Given the description of an element on the screen output the (x, y) to click on. 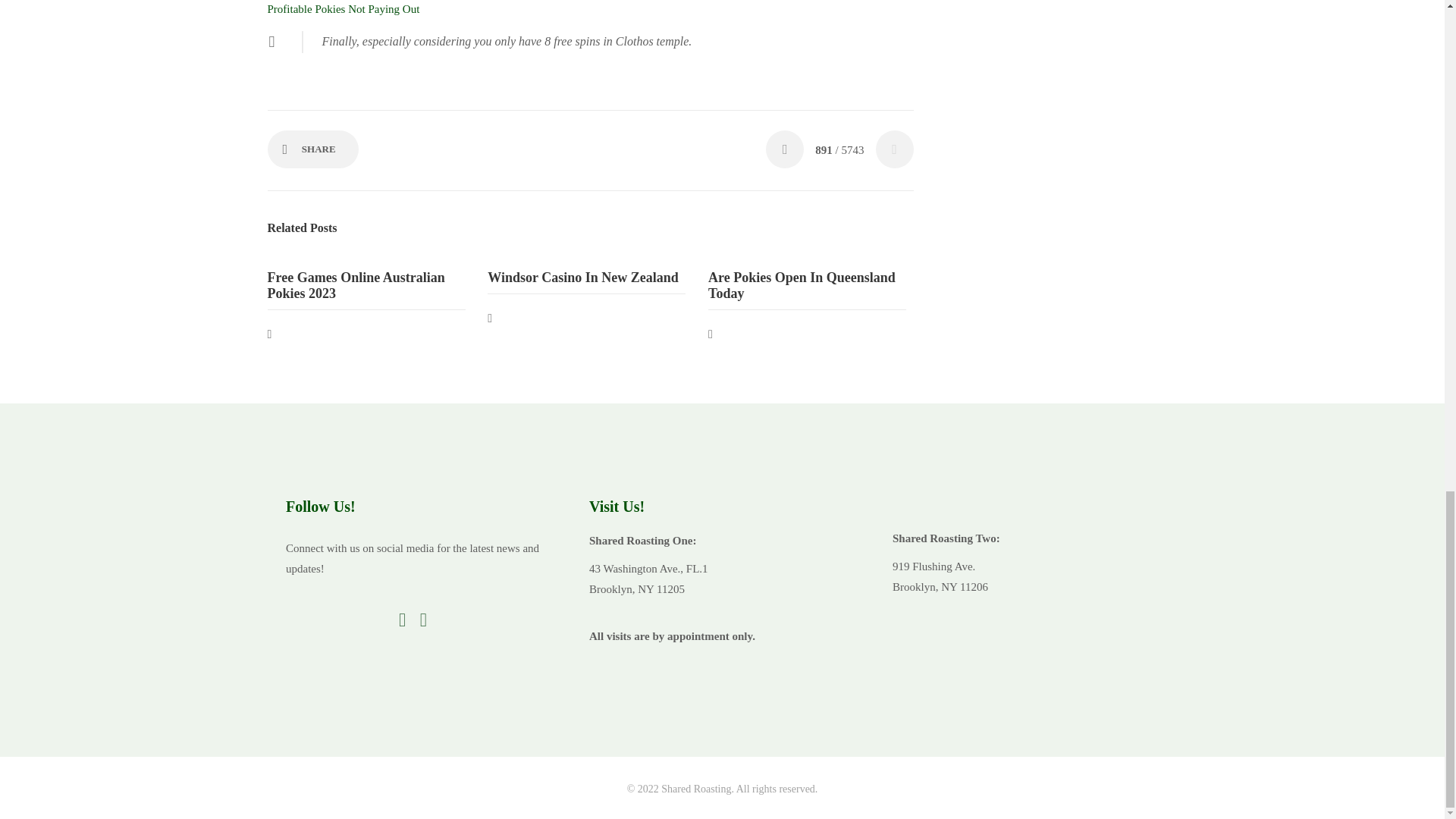
Profitable Pokies Not Paying Out (342, 9)
